Given the description of an element on the screen output the (x, y) to click on. 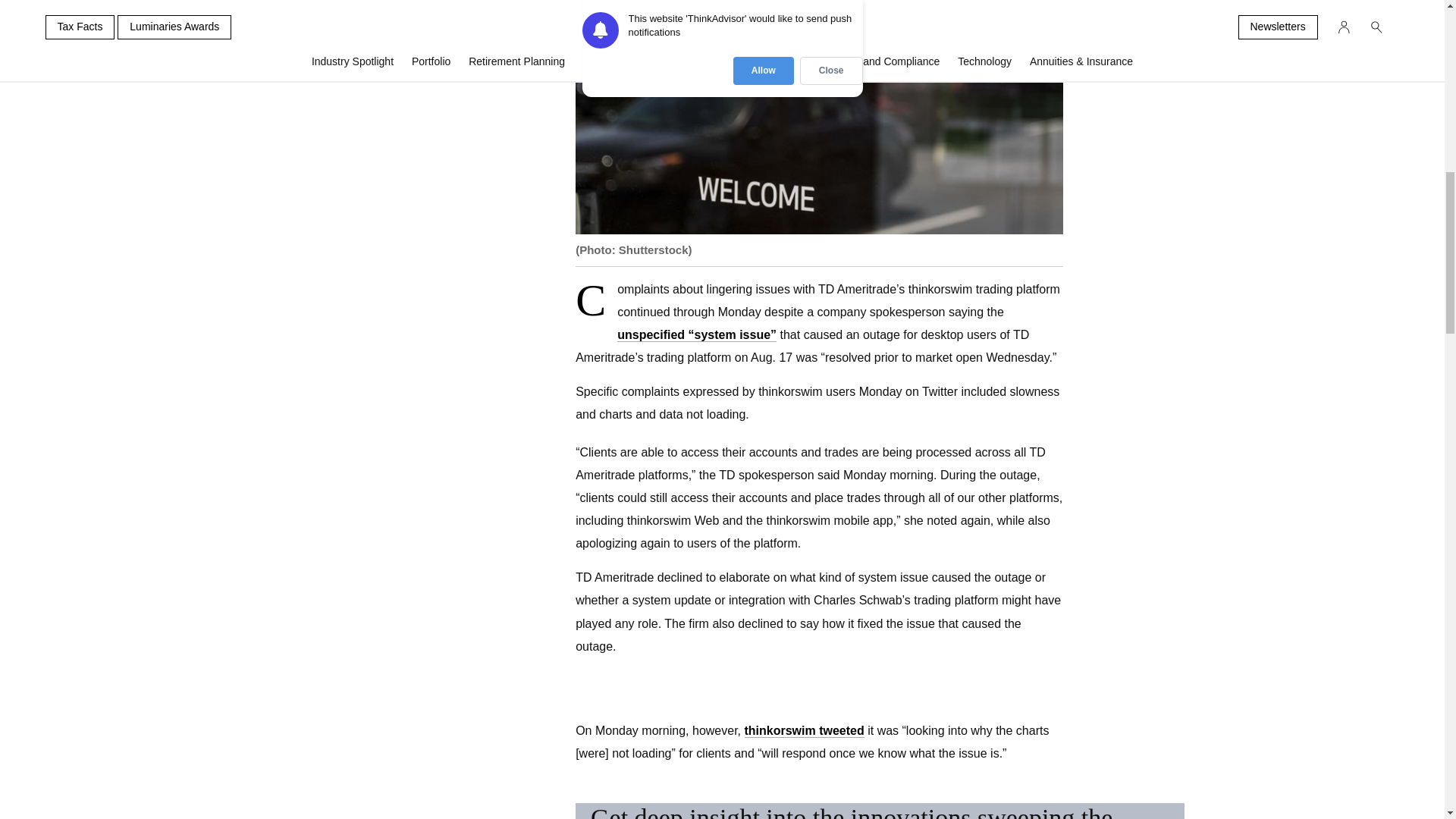
TD Ameritrade sign (818, 117)
3rd party ad content (372, 22)
